Given the description of an element on the screen output the (x, y) to click on. 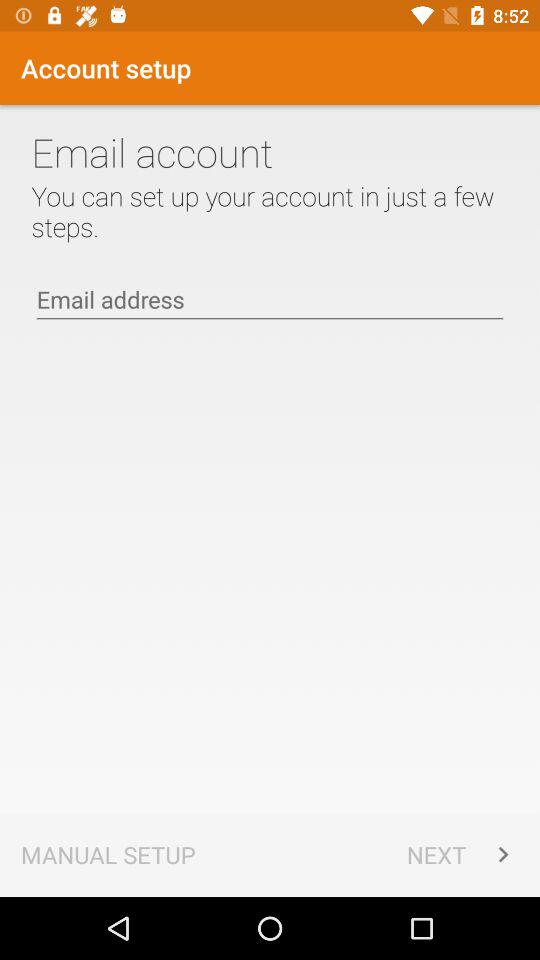
scroll until the manual setup icon (108, 854)
